Given the description of an element on the screen output the (x, y) to click on. 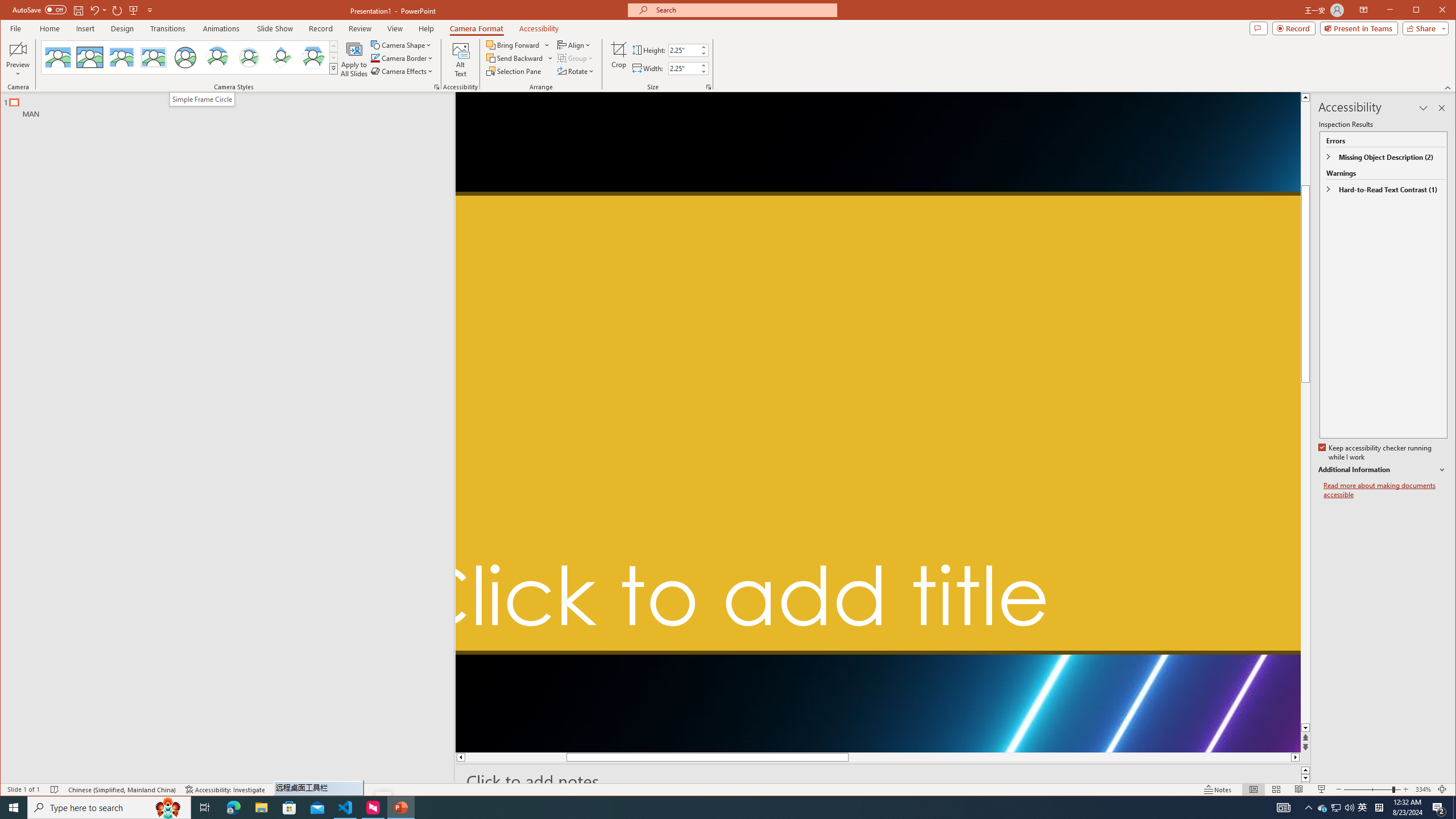
Keep accessibility checker running while I work (1375, 452)
Read more about making documents accessible (1385, 489)
Center Shadow Circle (216, 57)
